Given the description of an element on the screen output the (x, y) to click on. 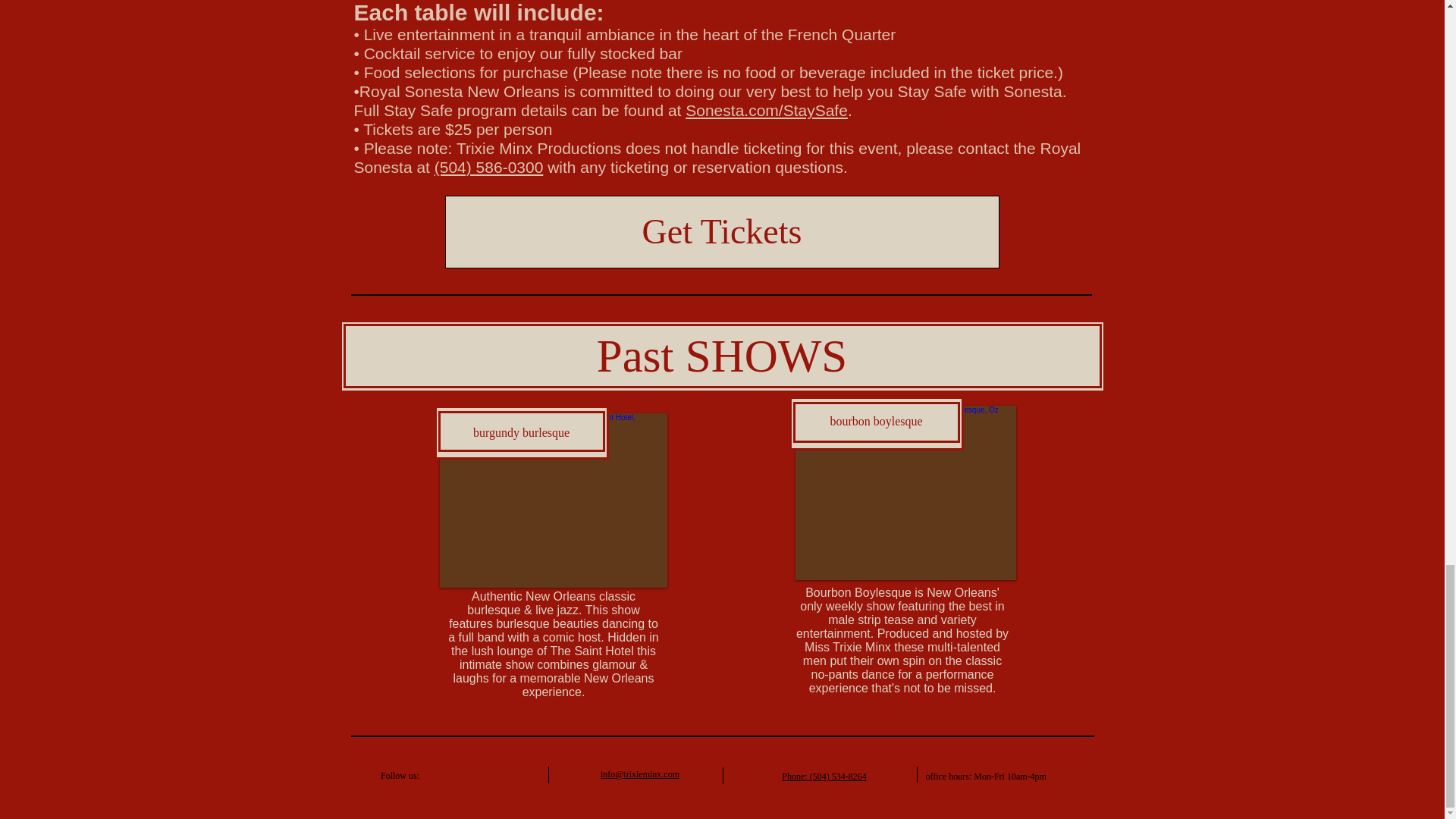
Get Tickets (721, 231)
